Given the description of an element on the screen output the (x, y) to click on. 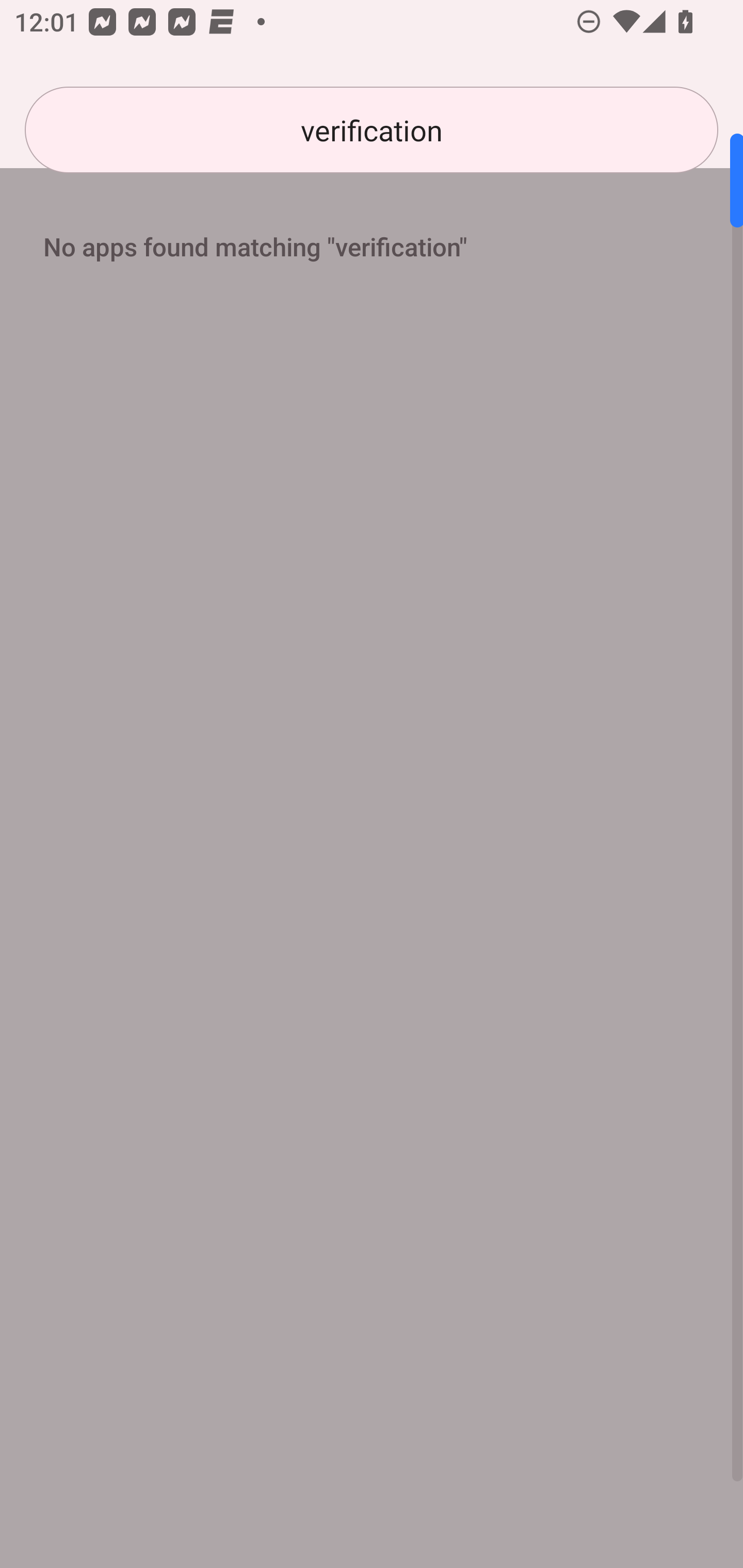
verification (371, 130)
